Given the description of an element on the screen output the (x, y) to click on. 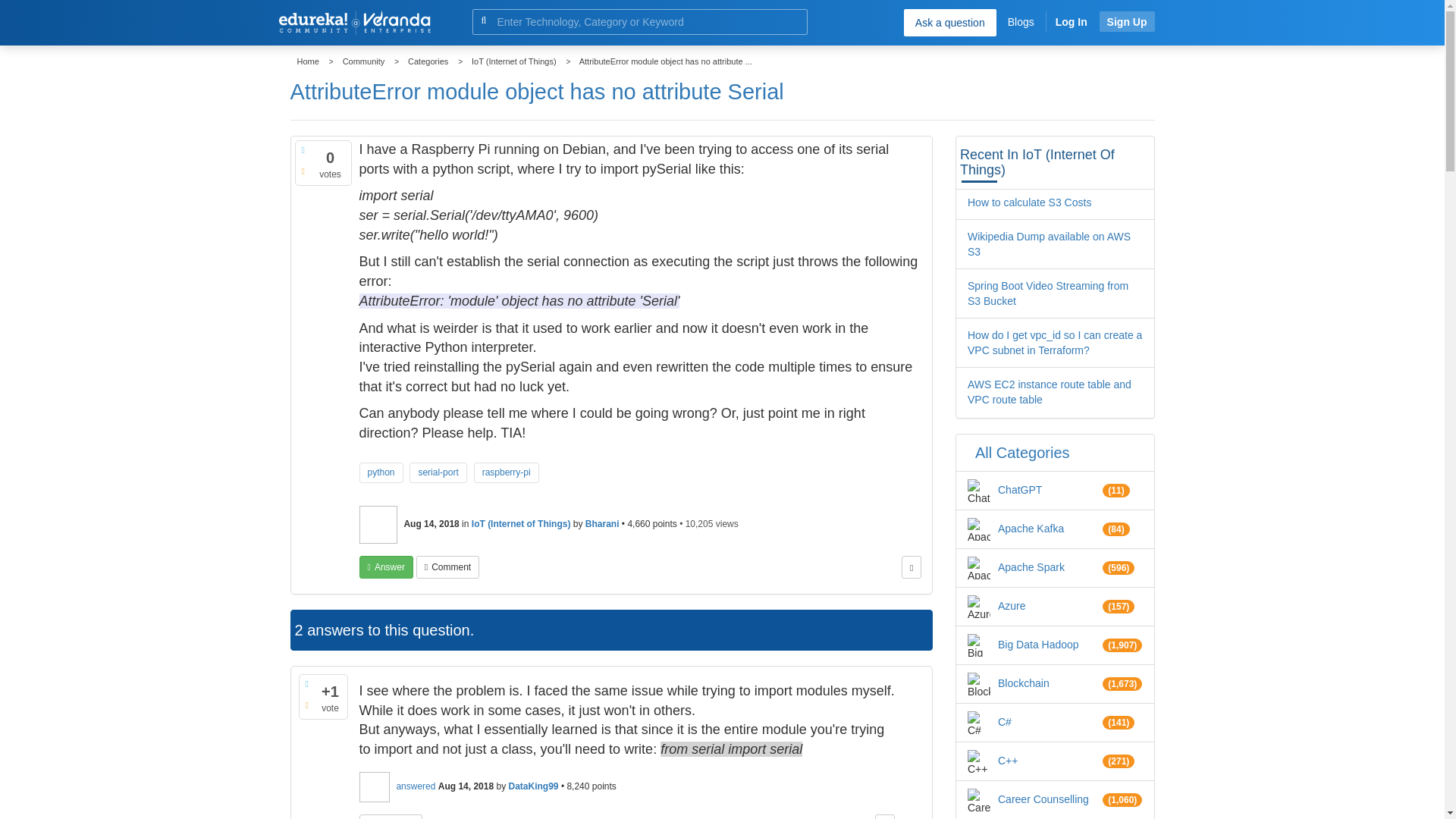
Answer this question (386, 567)
Ask a question (949, 22)
Blogs (1020, 21)
Add a comment on this answer (390, 816)
Add a comment on this question (447, 567)
